Given the description of an element on the screen output the (x, y) to click on. 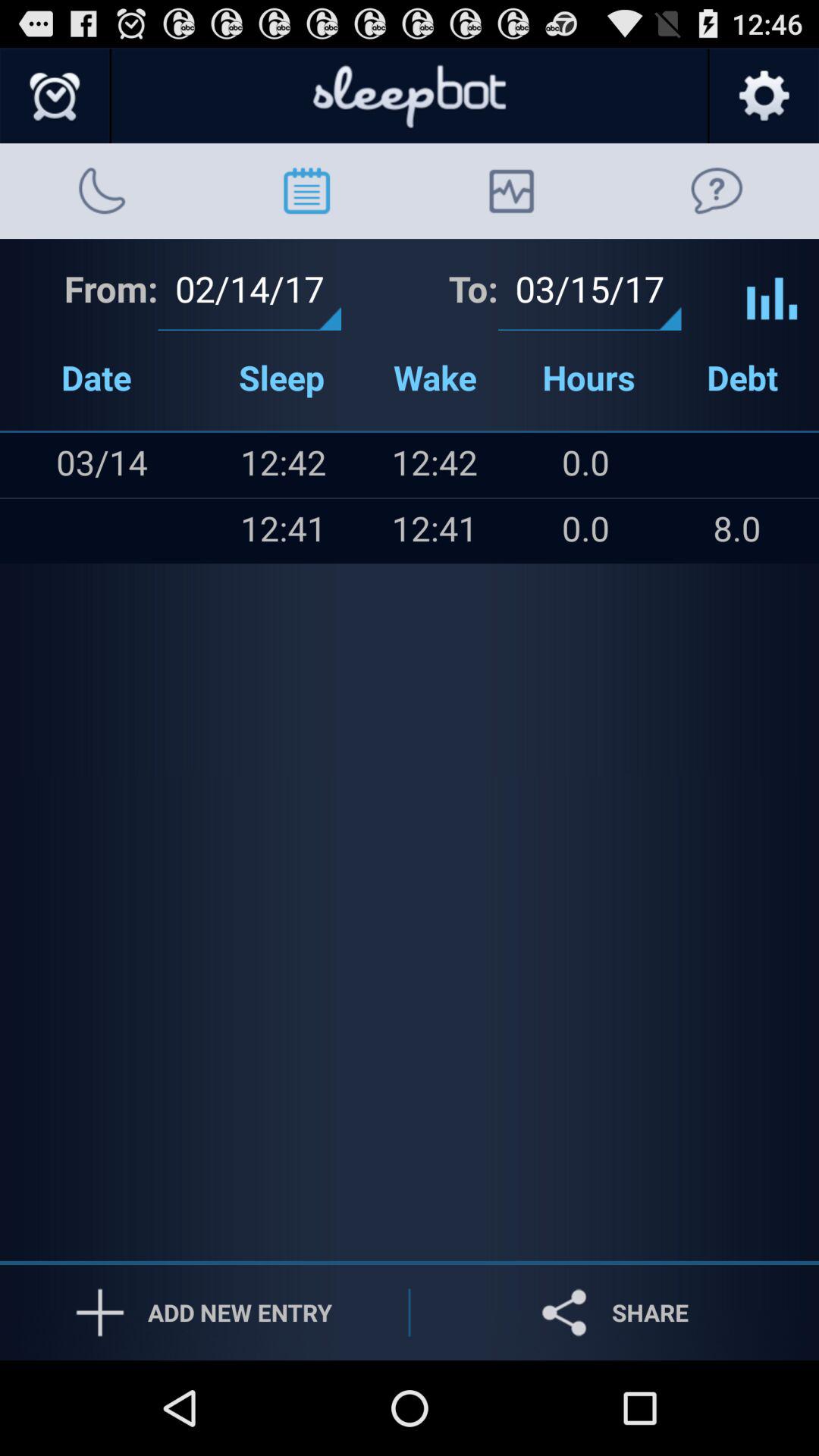
turn on icon below the   item (31, 531)
